Given the description of an element on the screen output the (x, y) to click on. 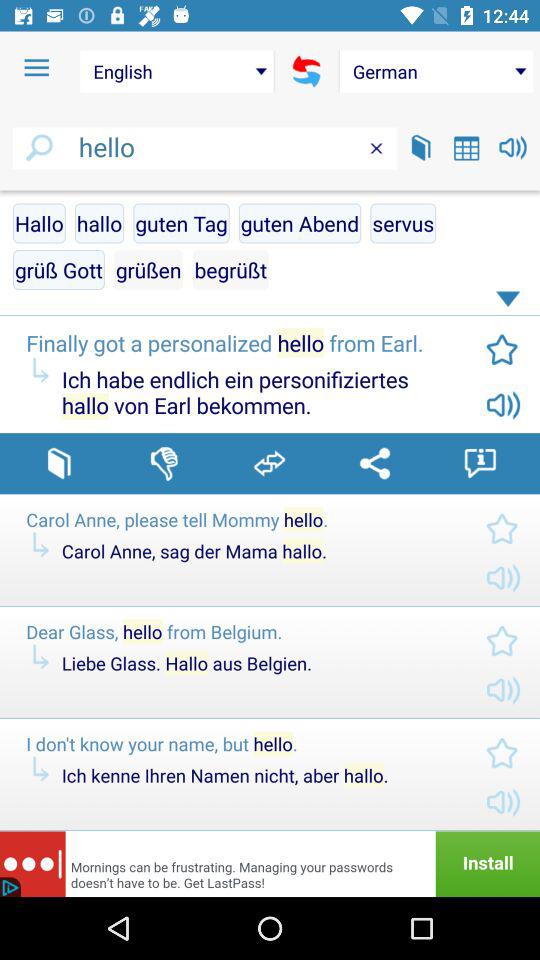
tecla de volume (512, 147)
